Given the description of an element on the screen output the (x, y) to click on. 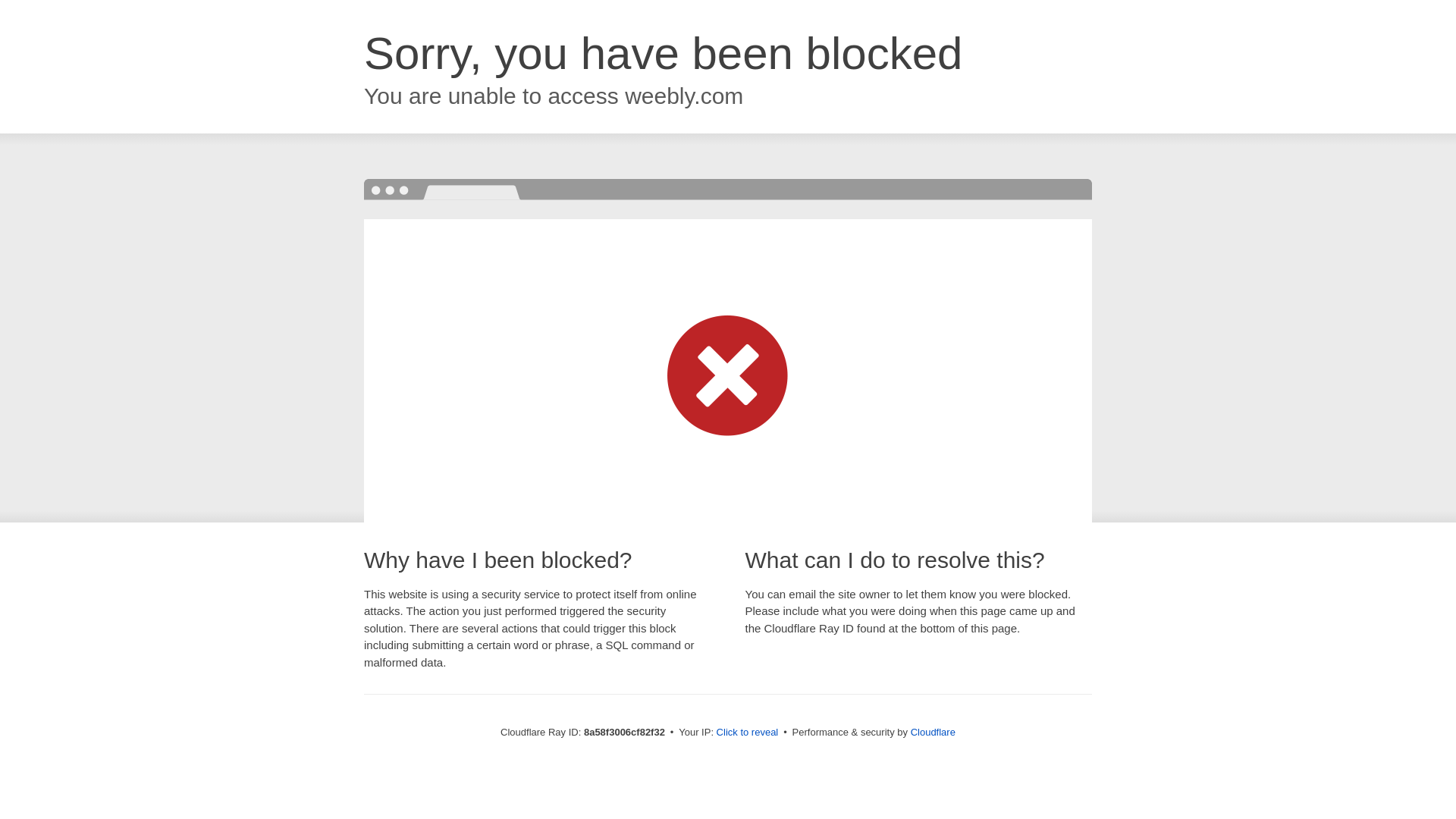
Click to reveal (747, 732)
Cloudflare (933, 731)
